Given the description of an element on the screen output the (x, y) to click on. 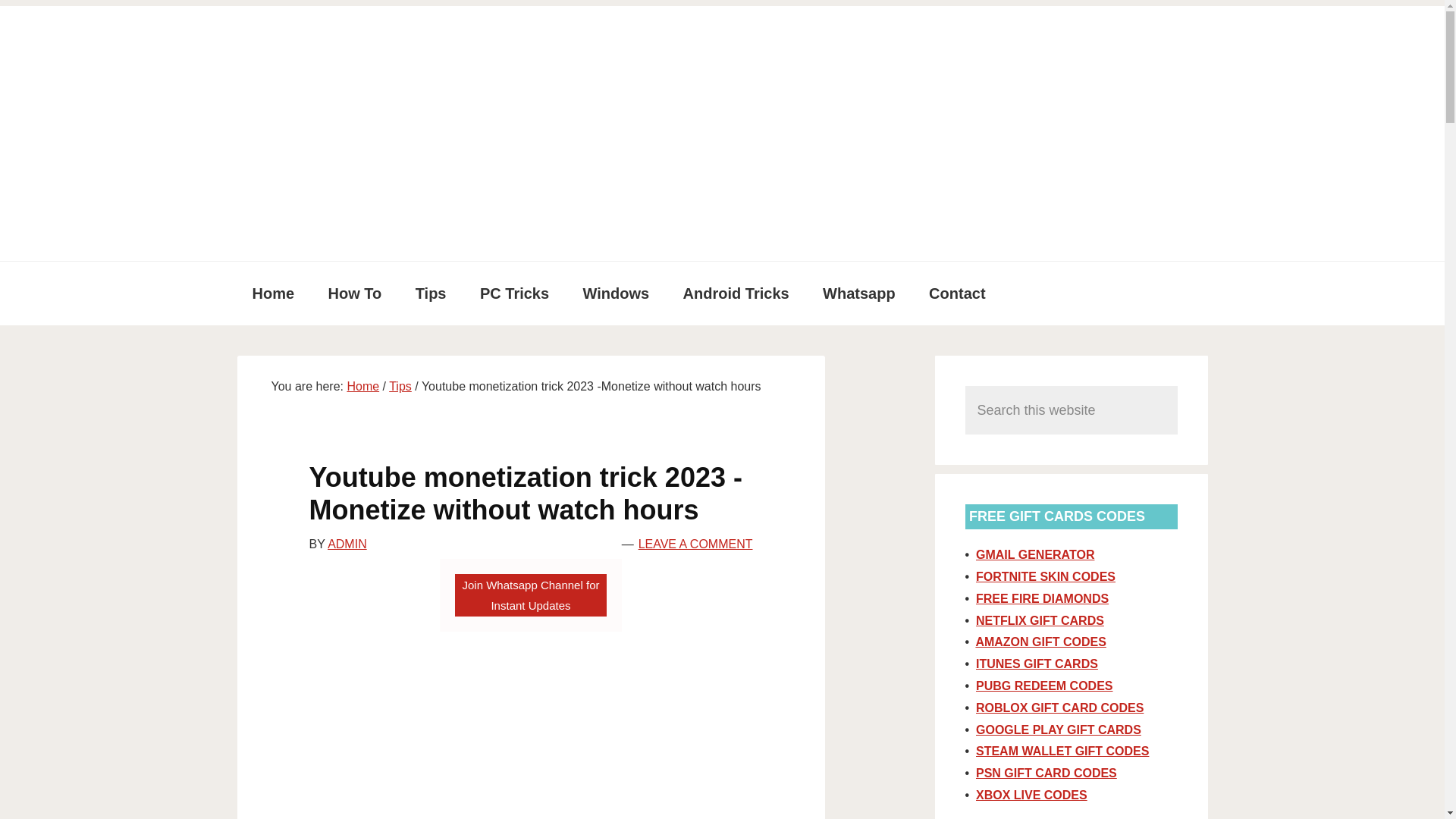
Tips (430, 293)
PC Tricks (514, 293)
Android Tricks (736, 293)
Vlivetricks (349, 51)
Contact (957, 293)
Tips (400, 386)
How To (355, 293)
Windows (616, 293)
Whatsapp (859, 293)
